Given the description of an element on the screen output the (x, y) to click on. 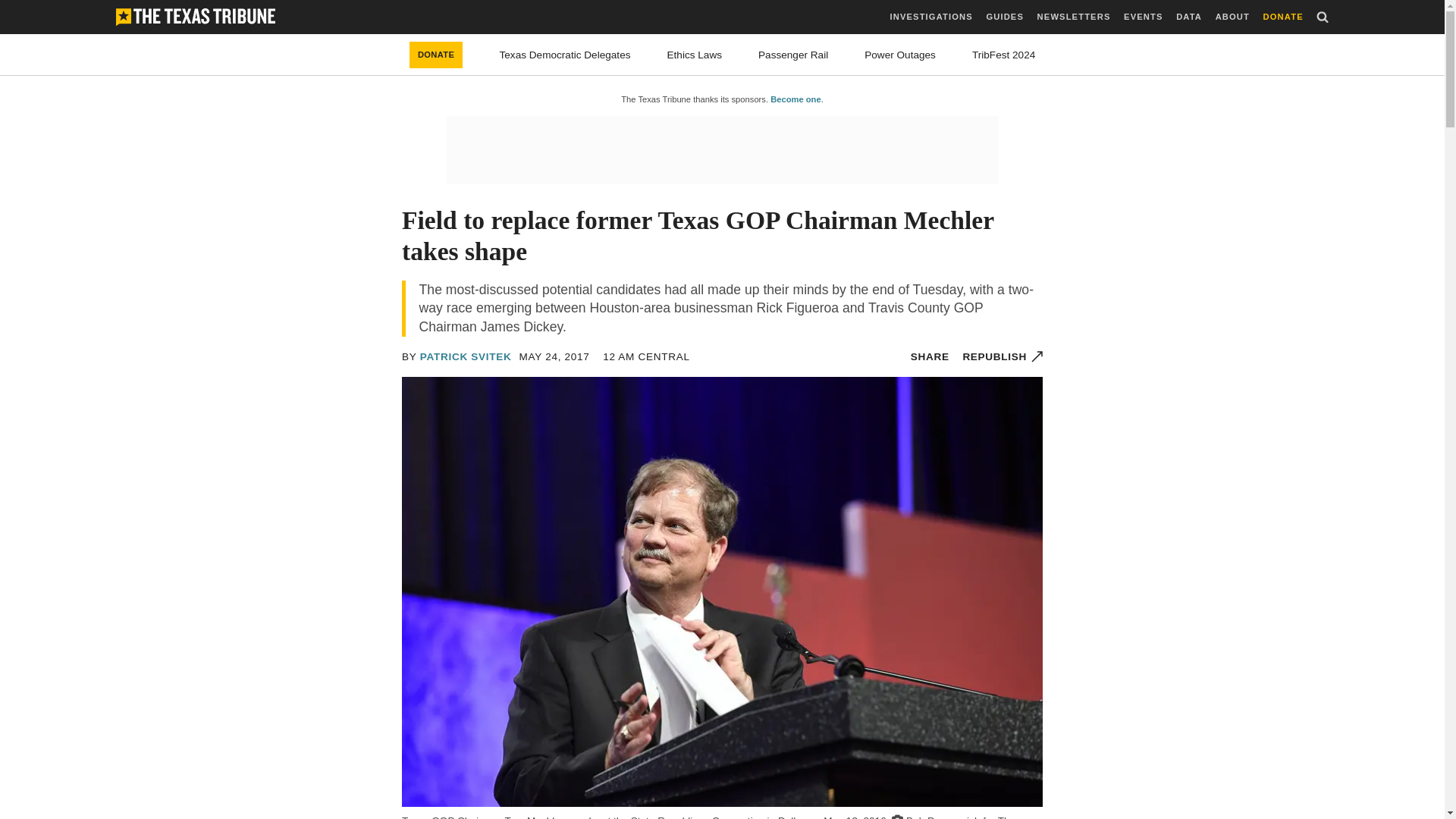
GUIDES (1004, 17)
Texas Democratic Delegates (564, 54)
2017-05-24 00:01 CDT (646, 356)
NEWSLETTERS (1073, 17)
DATA (1189, 17)
Become one (795, 99)
REPUBLISH (1002, 356)
2017-05-24 00:01 CDT (554, 356)
DONATE (1283, 17)
Ethics Laws (694, 54)
INVESTIGATIONS (930, 17)
PATRICK SVITEK (466, 356)
3rd party ad content (721, 150)
EVENTS (1142, 17)
TribFest 2024 (1003, 54)
